Given the description of an element on the screen output the (x, y) to click on. 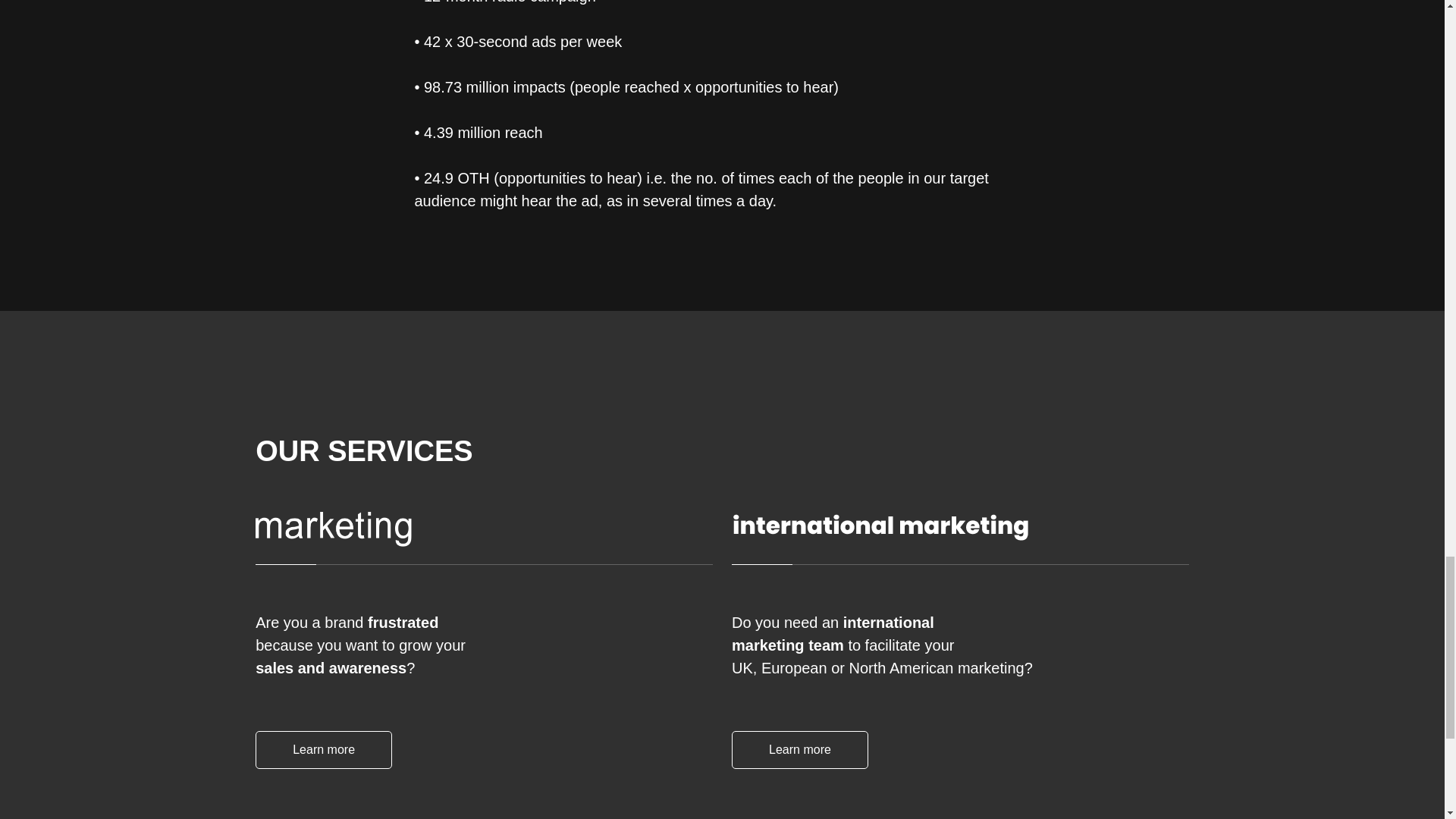
Learn more (323, 750)
Learn more (799, 750)
